Given the description of an element on the screen output the (x, y) to click on. 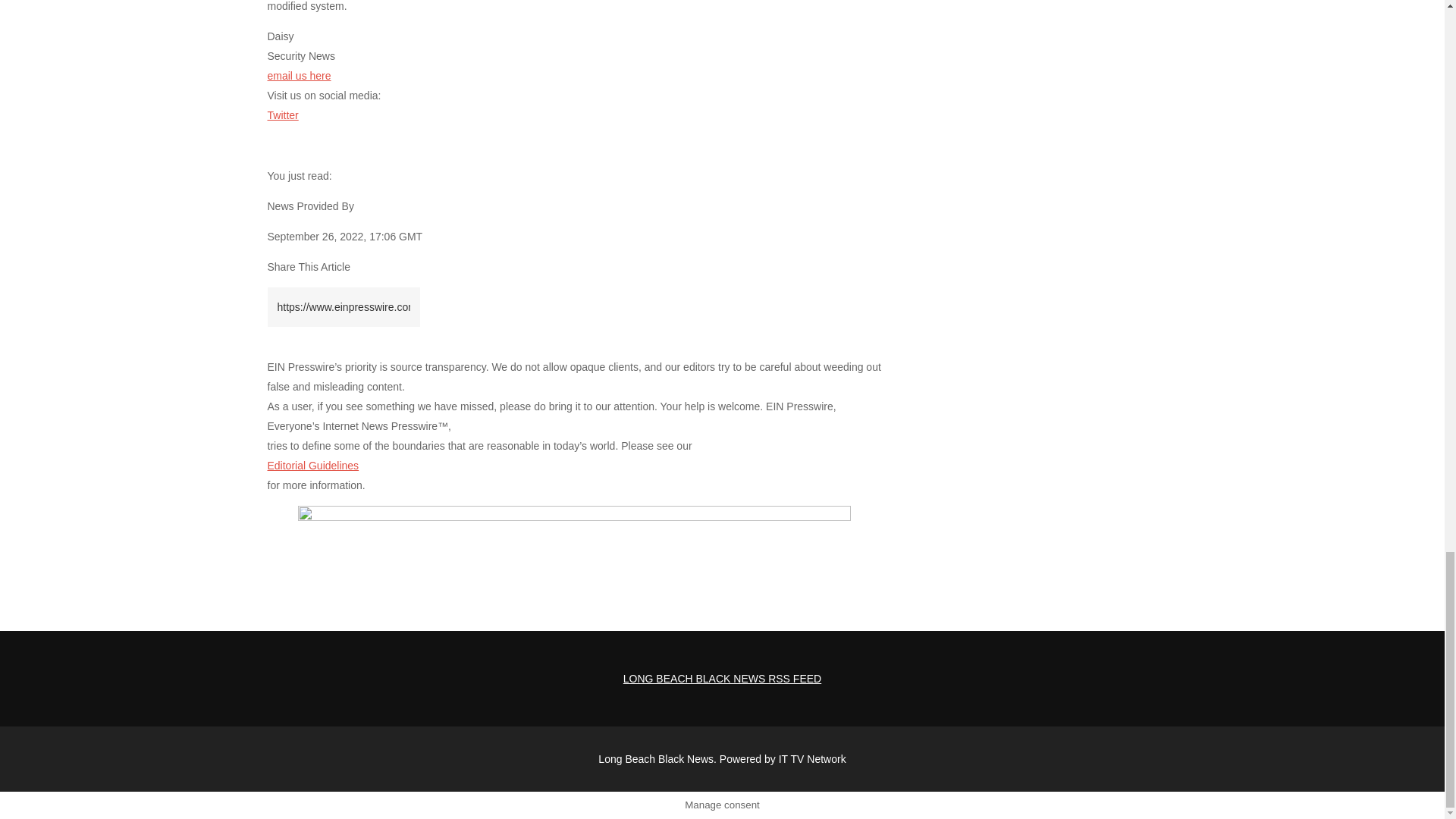
email us here (298, 75)
Editorial Guidelines (312, 465)
Twitter (282, 114)
